Given the description of an element on the screen output the (x, y) to click on. 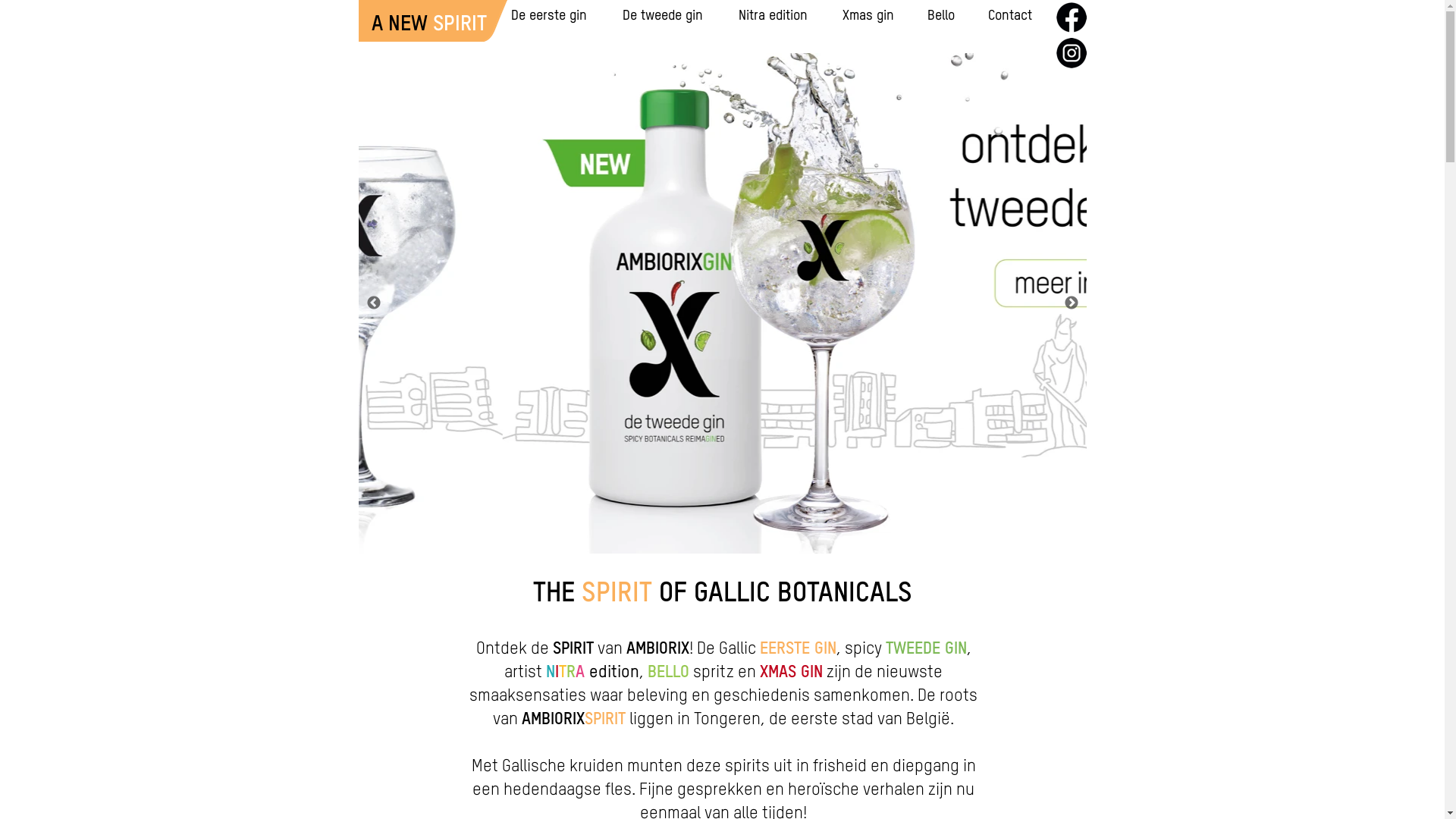
Next Element type: text (1070, 302)
Previous Element type: text (372, 302)
